Given the description of an element on the screen output the (x, y) to click on. 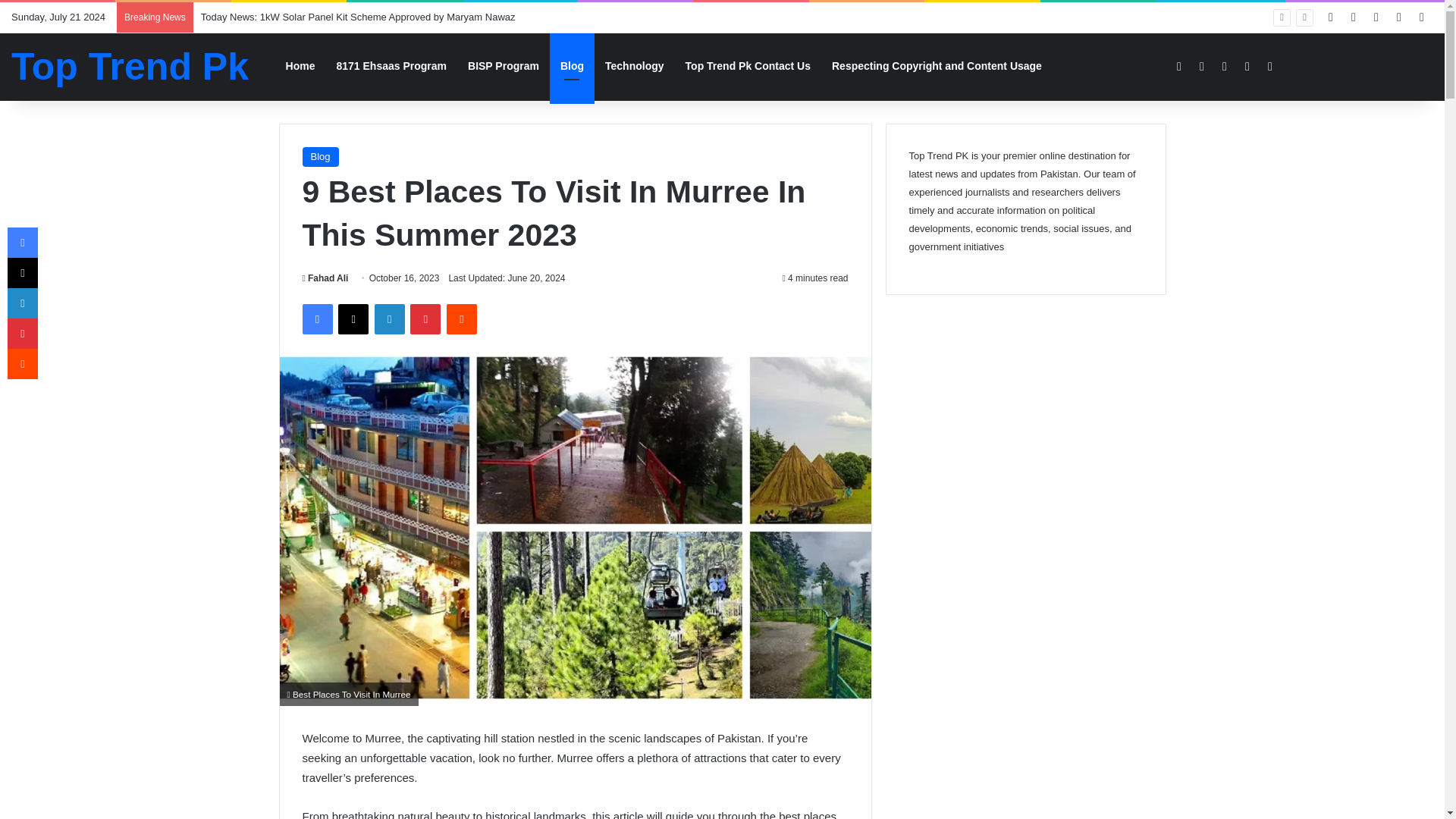
Facebook (316, 318)
Top Trend Pk Contact Us (748, 65)
Facebook (316, 318)
Pinterest (425, 318)
Blog (319, 157)
X (352, 318)
LinkedIn (389, 318)
Top Trend Pk (129, 66)
Reddit (461, 318)
Fahad Ali (324, 277)
Pinterest (425, 318)
BISP Program (503, 65)
X (352, 318)
8171 Ehsaas Program (392, 65)
